Given the description of an element on the screen output the (x, y) to click on. 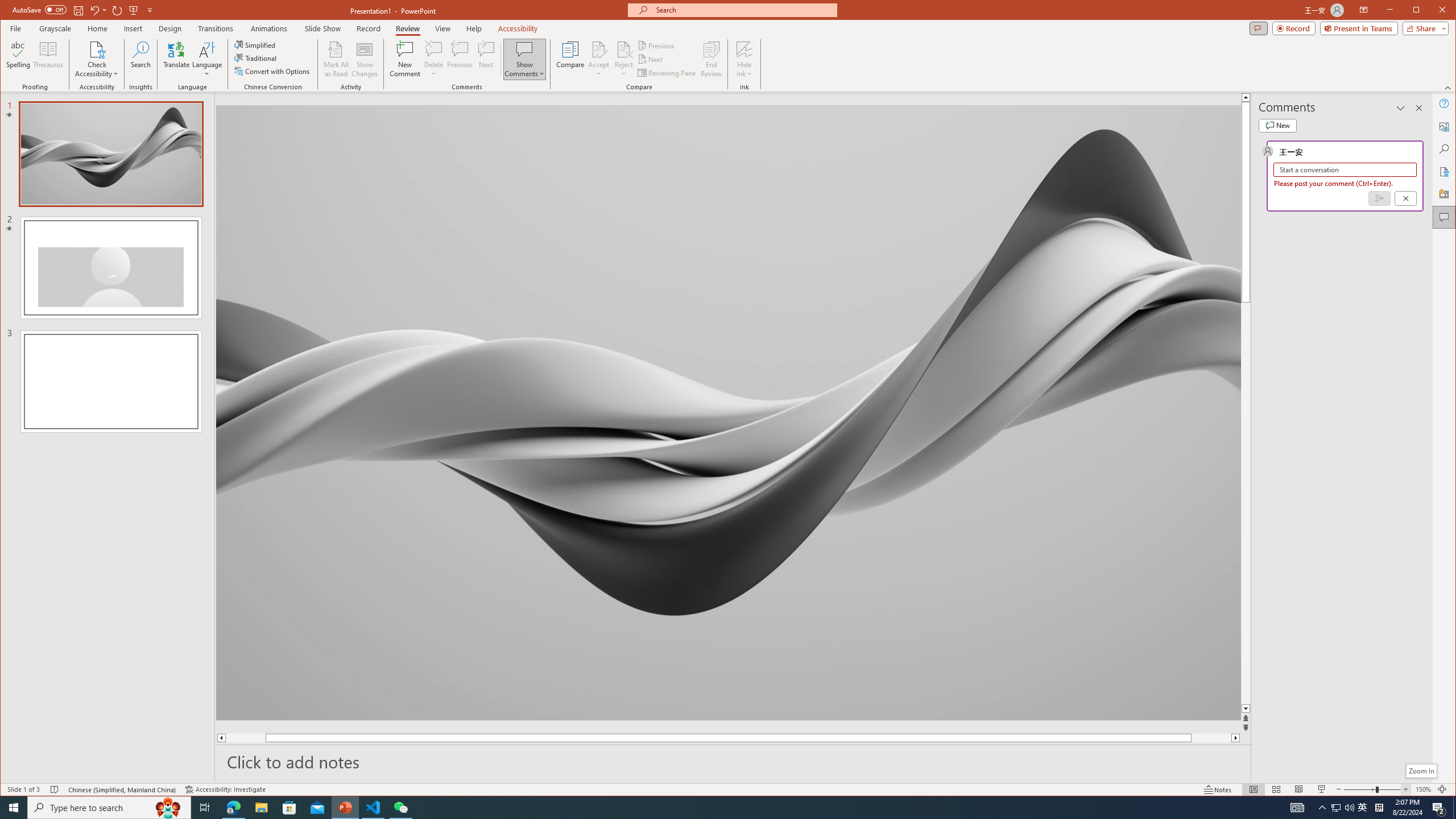
Reject (623, 59)
Zoom 150% (1422, 789)
Accept Change (598, 48)
Show Changes (365, 59)
